Given the description of an element on the screen output the (x, y) to click on. 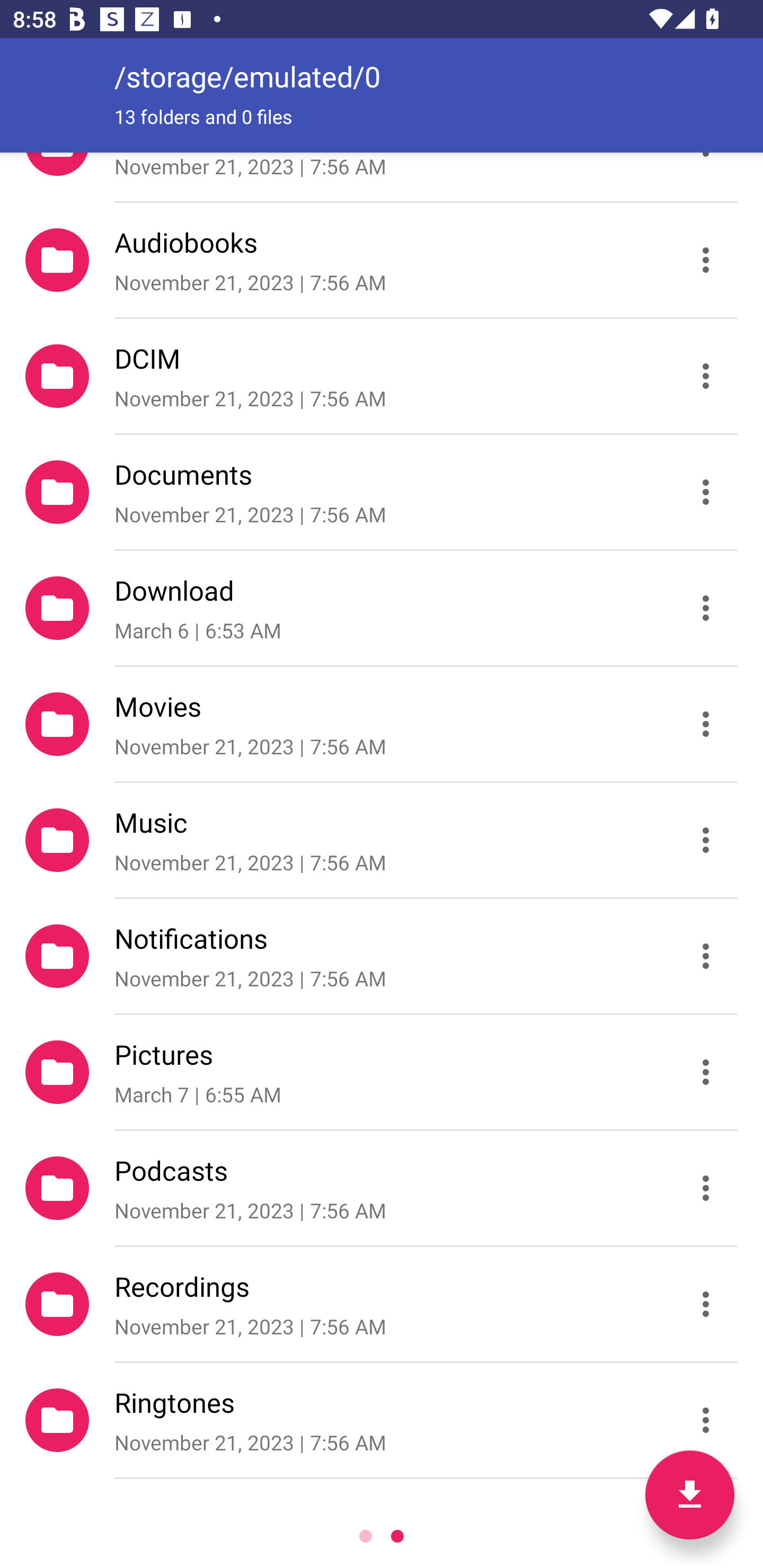
Audiobooks November 21, 2023 | 7:56 AM (381, 259)
DCIM November 21, 2023 | 7:56 AM (381, 375)
Documents November 21, 2023 | 7:56 AM (381, 491)
Download March 6 | 6:53 AM (381, 607)
Movies November 21, 2023 | 7:56 AM (381, 723)
Music November 21, 2023 | 7:56 AM (381, 839)
Notifications November 21, 2023 | 7:56 AM (381, 955)
Pictures March 7 | 6:55 AM (381, 1071)
Podcasts November 21, 2023 | 7:56 AM (381, 1187)
Recordings November 21, 2023 | 7:56 AM (381, 1303)
Ringtones November 21, 2023 | 7:56 AM (381, 1419)
